Given the description of an element on the screen output the (x, y) to click on. 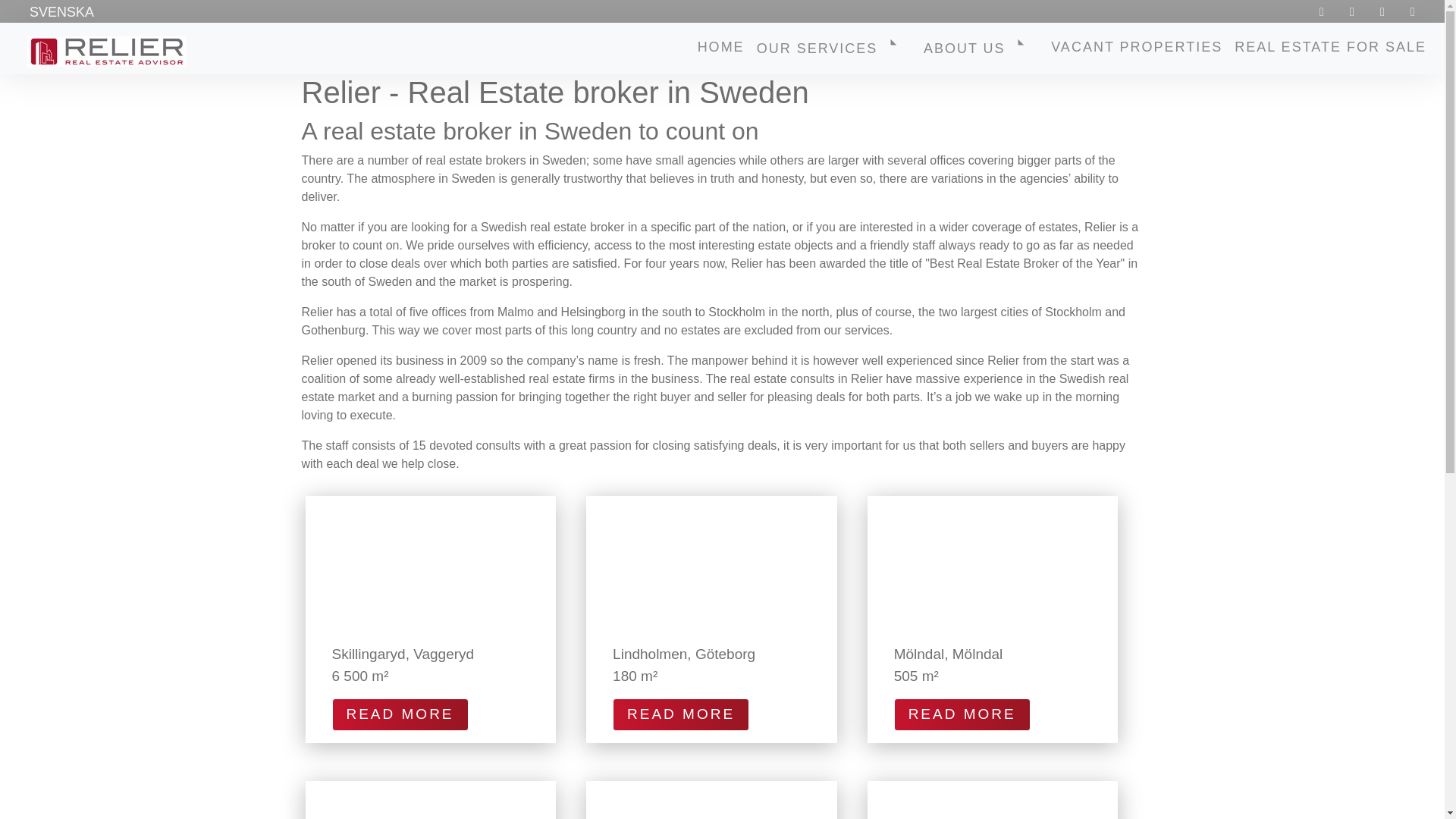
VACANT PROPERTIES (1136, 51)
READ MORE (961, 714)
REAL ESTATE FOR SALE (1330, 51)
HOME (721, 51)
ABOUT US (972, 50)
READ MORE (399, 714)
SVENSKA (60, 11)
READ MORE (680, 714)
OUR SERVICES (826, 50)
